Given the description of an element on the screen output the (x, y) to click on. 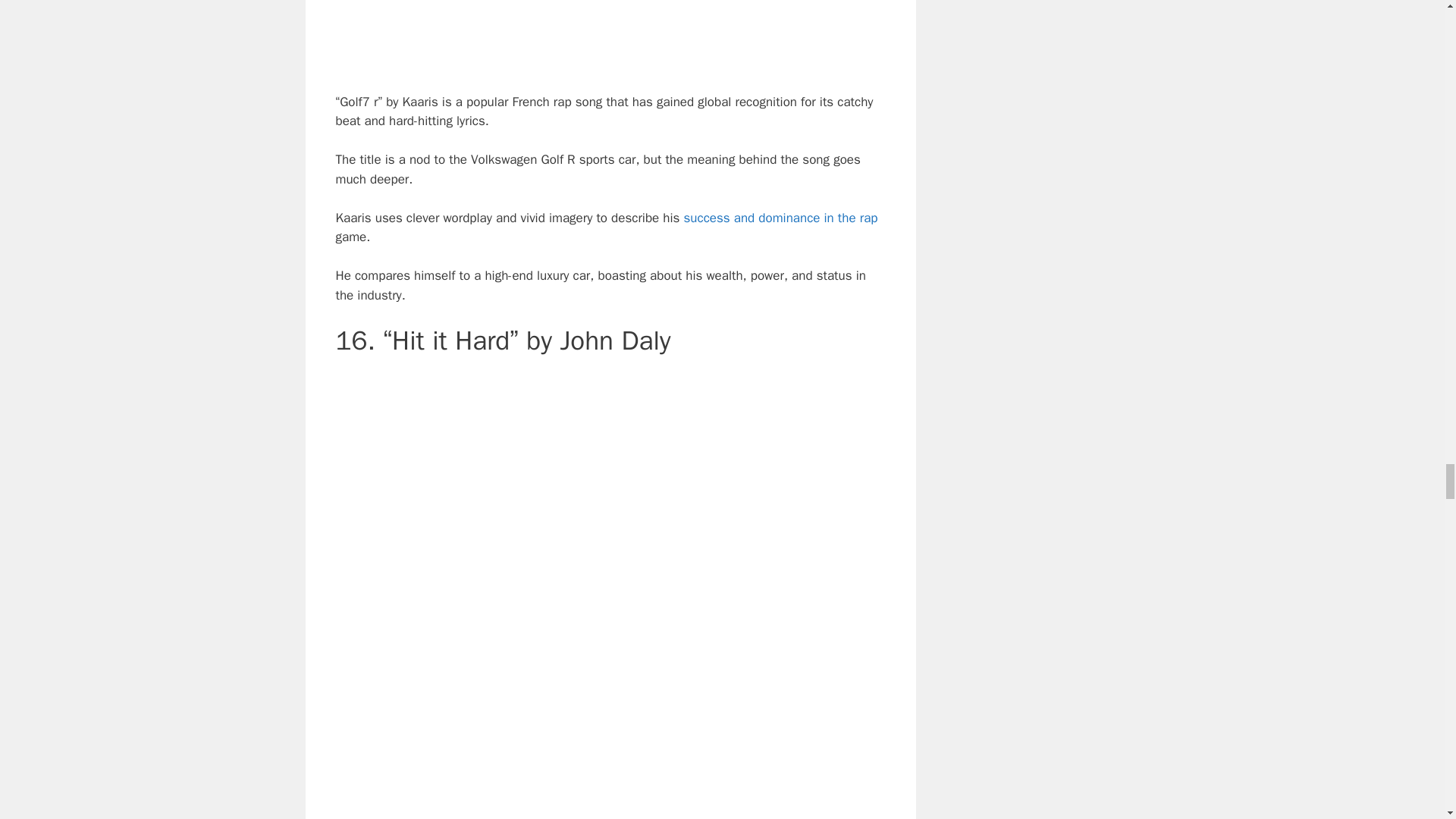
Golf7 r (609, 33)
